Given the description of an element on the screen output the (x, y) to click on. 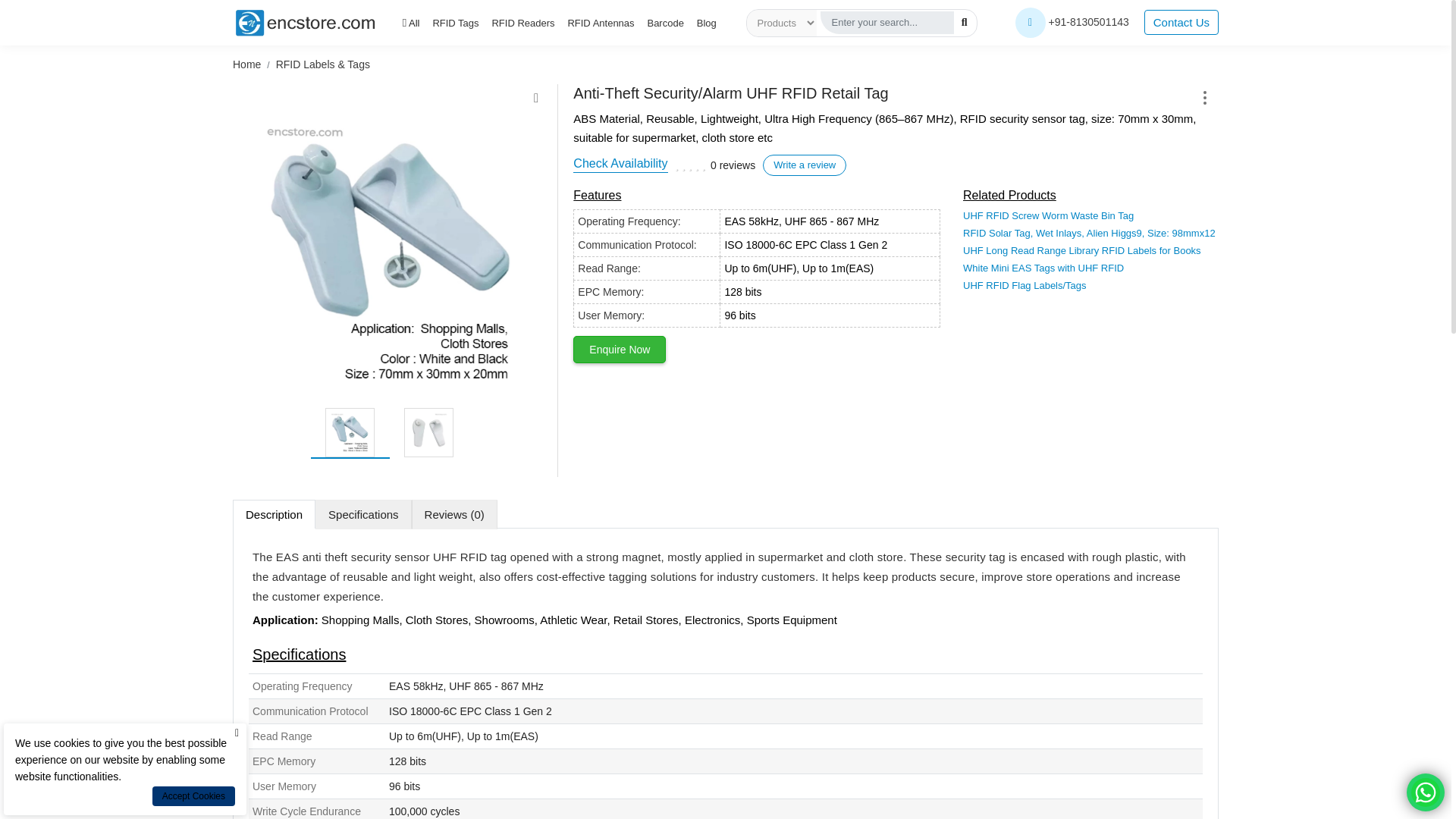
Enquire Now (619, 349)
RFID Antennas (600, 23)
White Mini EAS Tags with UHF RFID (1043, 267)
RFID Tags (455, 23)
RFID Solar Tag, Wet Inlays, Alien Higgs9, Size: 98mmx12 (1088, 233)
EnCstore.com Private Limited (305, 22)
UHF RFID Screw Worm Waste Bin Tag (1048, 215)
UHF RFID Tags (389, 254)
UHF RFID Tags (428, 432)
RFID Readers (523, 23)
UHF Long Read Range Library RFID Labels for Books (1081, 250)
0 reviews (732, 164)
Barcode (664, 23)
UHF RFID Tags (349, 432)
Home (246, 64)
